Given the description of an element on the screen output the (x, y) to click on. 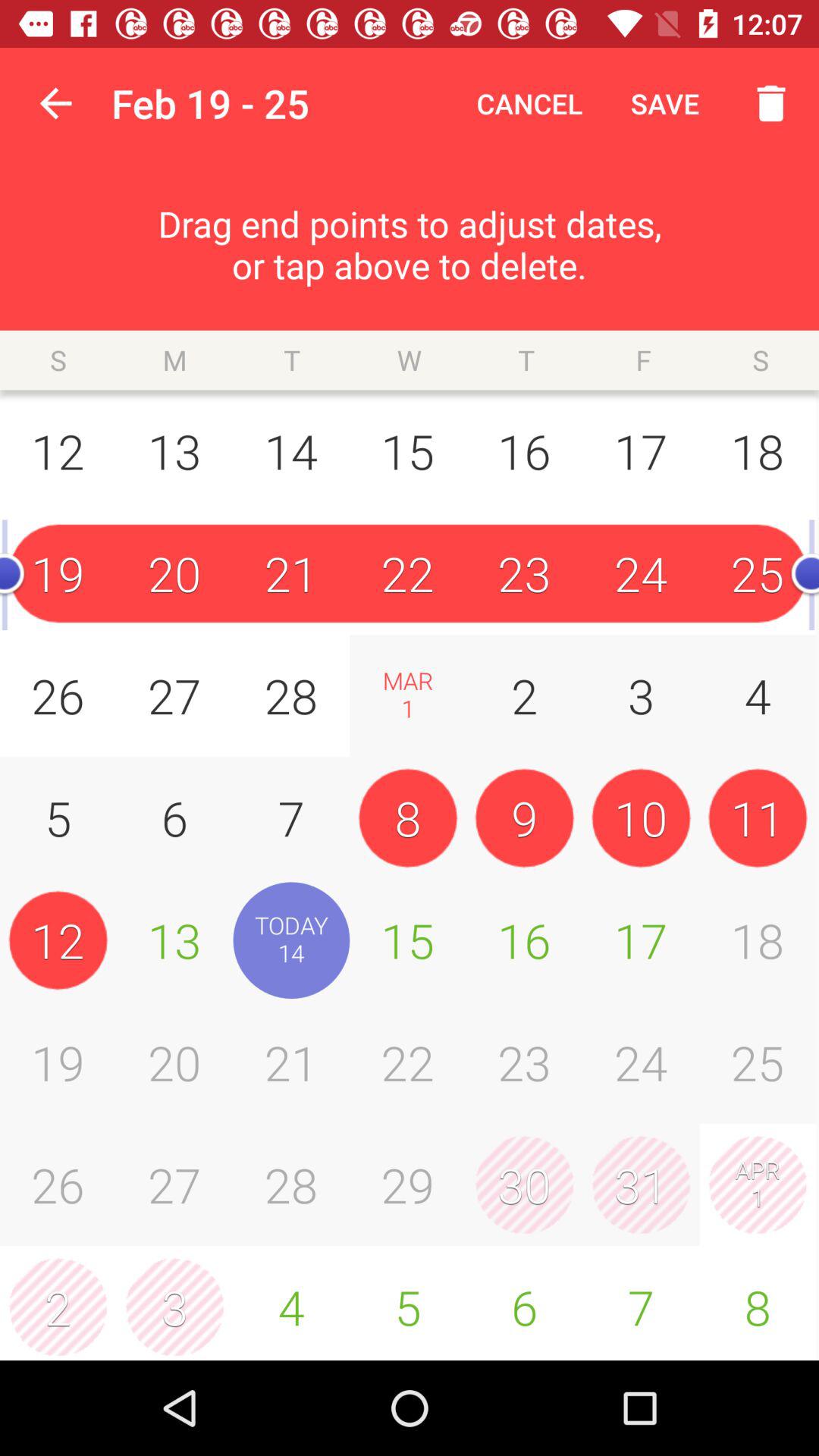
choose item to the right of the cancel icon (664, 103)
